Given the description of an element on the screen output the (x, y) to click on. 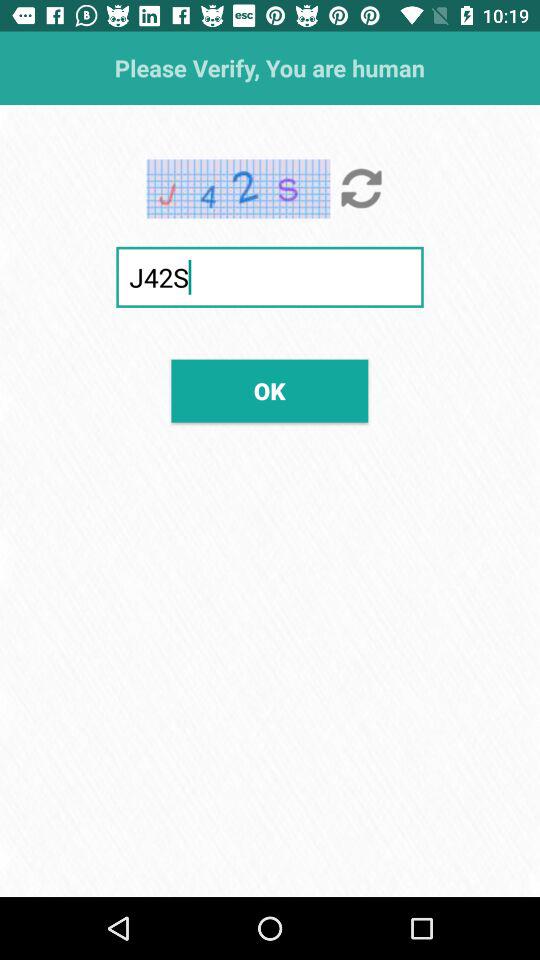
choose j42s icon (269, 276)
